Given the description of an element on the screen output the (x, y) to click on. 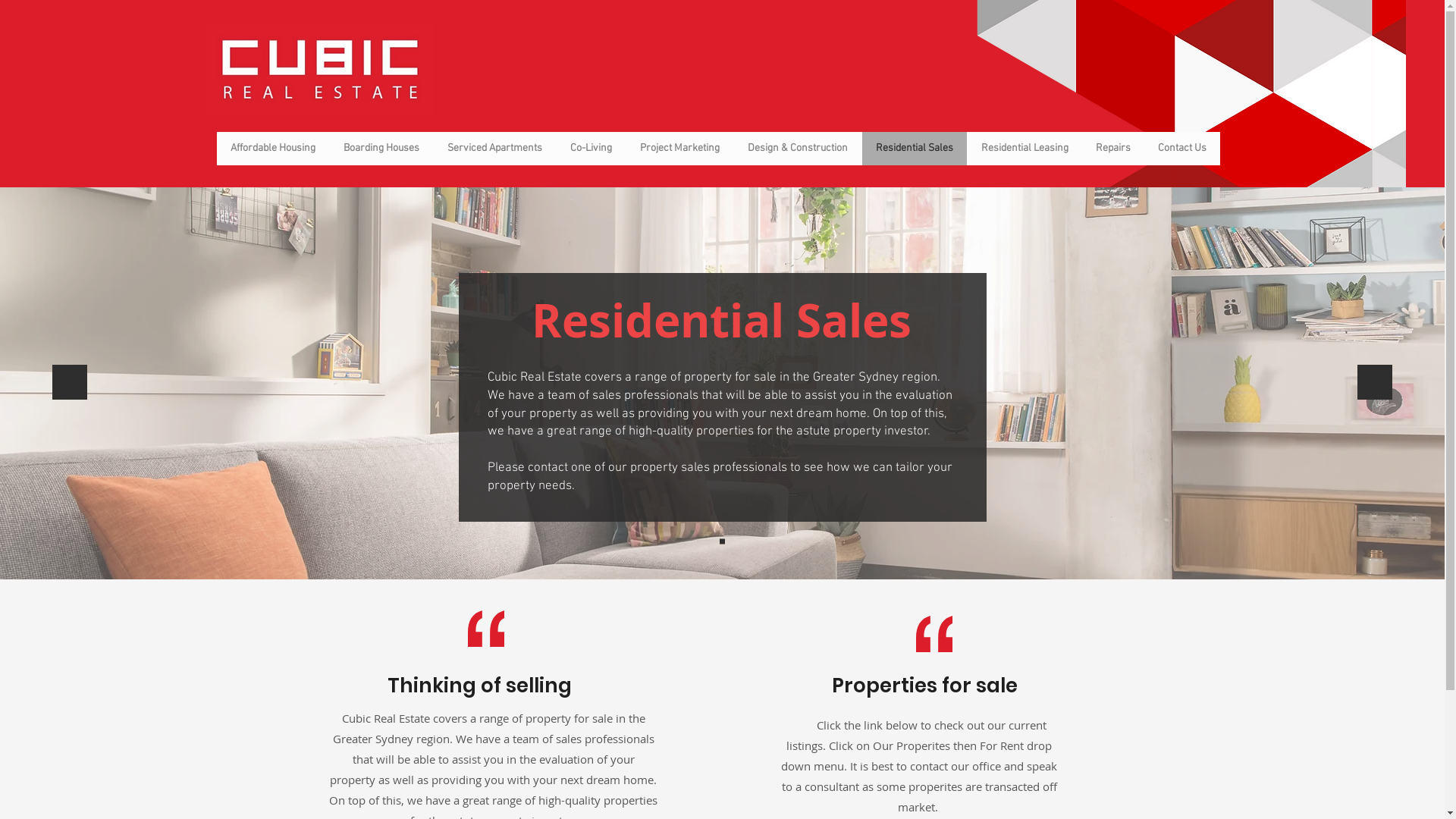
Boarding Houses Element type: text (381, 148)
Residential Sales Element type: text (913, 148)
Co-Living Element type: text (589, 148)
Residential Leasing Element type: text (1023, 148)
Contact Us Element type: text (1181, 148)
Repairs Element type: text (1112, 148)
Design & Construction Element type: text (796, 148)
Serviced Apartments Element type: text (493, 148)
Affordable Housing Element type: text (272, 148)
Project Marketing Element type: text (678, 148)
